Given the description of an element on the screen output the (x, y) to click on. 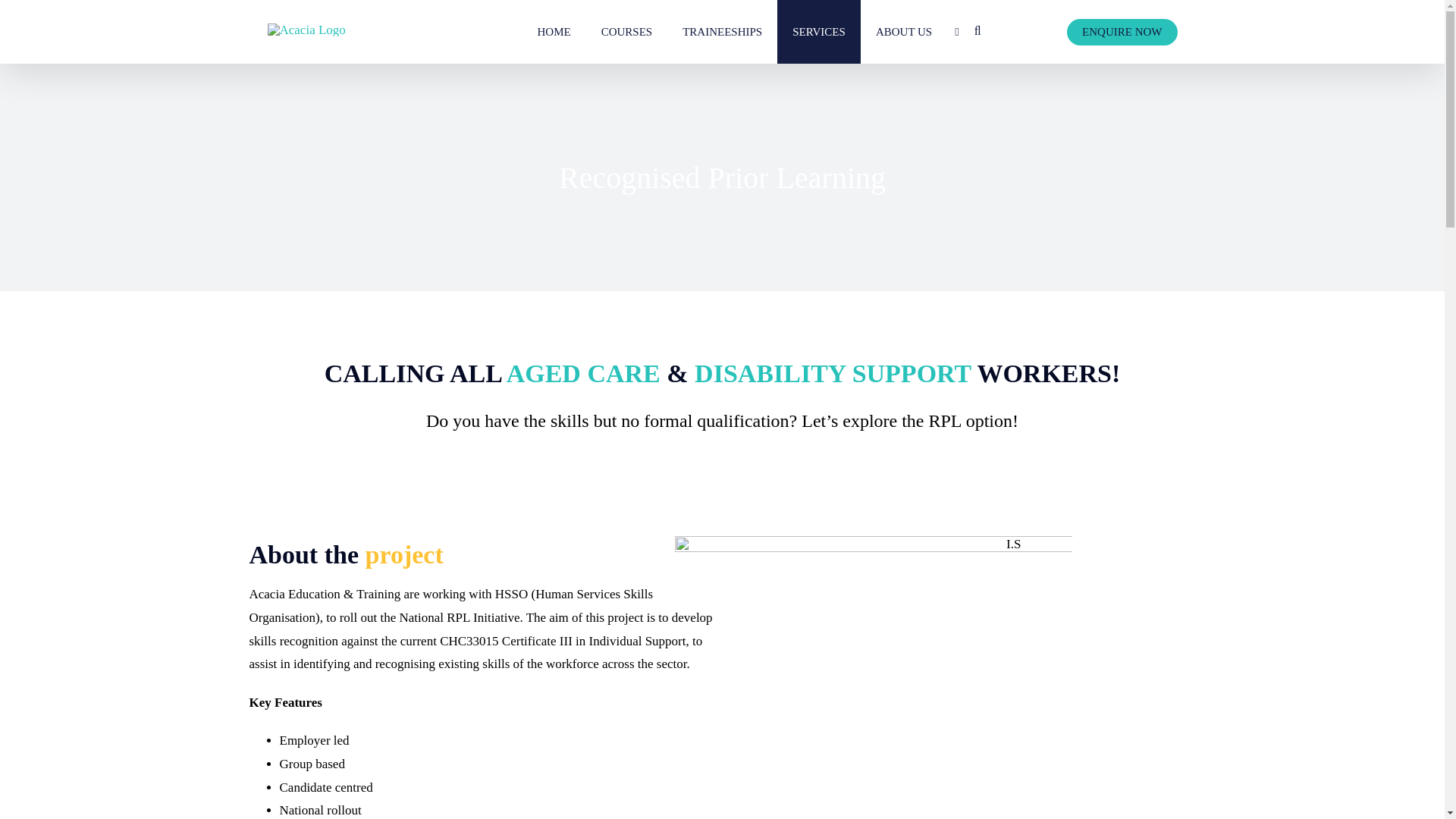
Search (977, 31)
TRAINEESHIPS (721, 31)
COURSES (627, 31)
SERVICES (818, 31)
I.S (873, 677)
ENQUIRE NOW (1121, 31)
HOME (553, 31)
ABOUT US (903, 31)
